Given the description of an element on the screen output the (x, y) to click on. 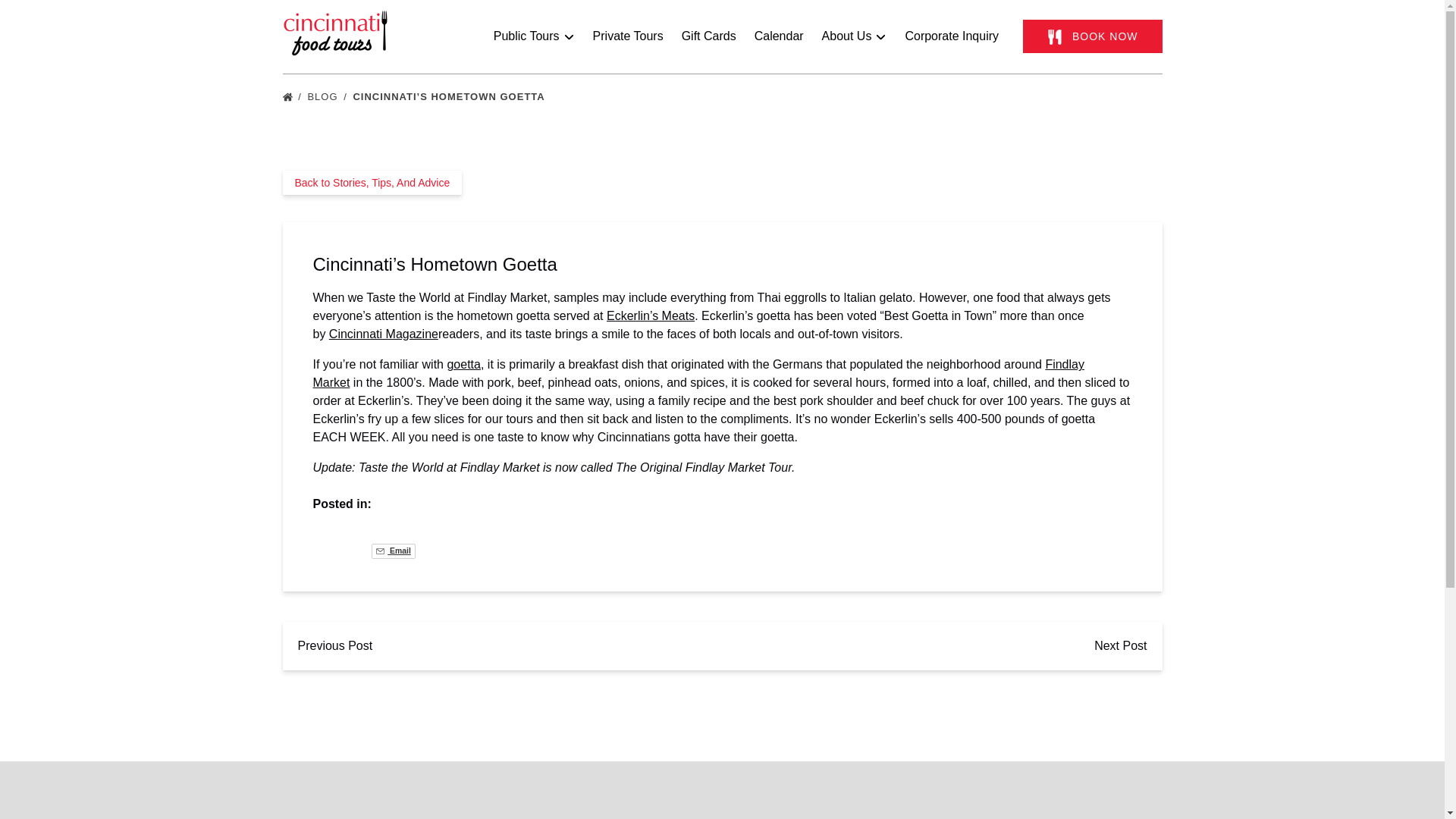
Open About Us Menu (858, 32)
Public Tours (533, 35)
Back to Stories, Tips, And Advice (371, 182)
Findlay Market (698, 373)
Gift Cards (708, 35)
Skip to primary navigation (77, 16)
BLOG (328, 96)
Private Tours (627, 35)
About Us (854, 35)
Email (392, 550)
